Given the description of an element on the screen output the (x, y) to click on. 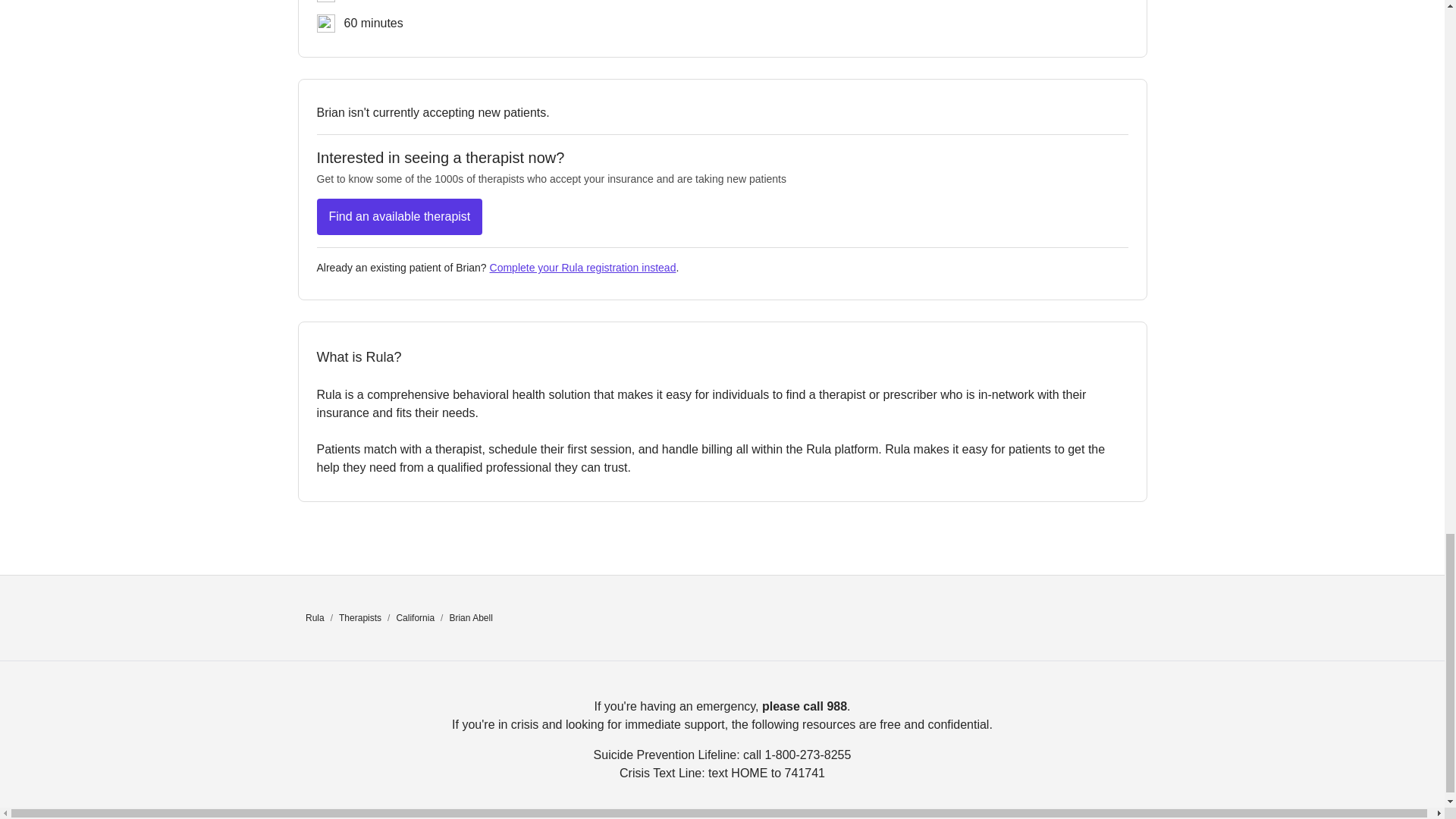
Find an available therapist (400, 217)
Therapists (360, 617)
Complete your Rula registration instead (583, 267)
California (414, 617)
Brian Abell (470, 617)
Rula (314, 617)
